Given the description of an element on the screen output the (x, y) to click on. 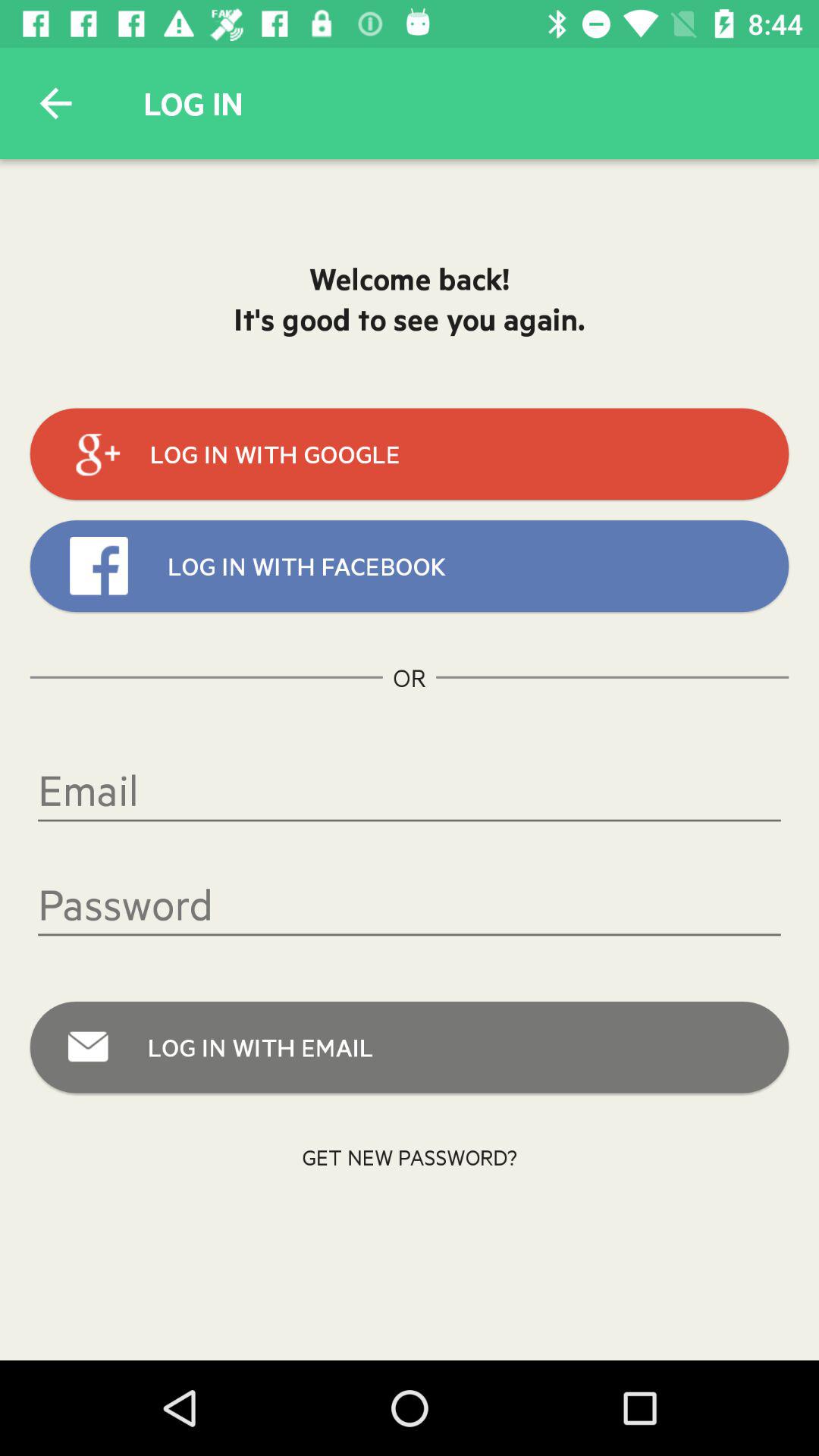
select the item above welcome back it (55, 103)
